Given the description of an element on the screen output the (x, y) to click on. 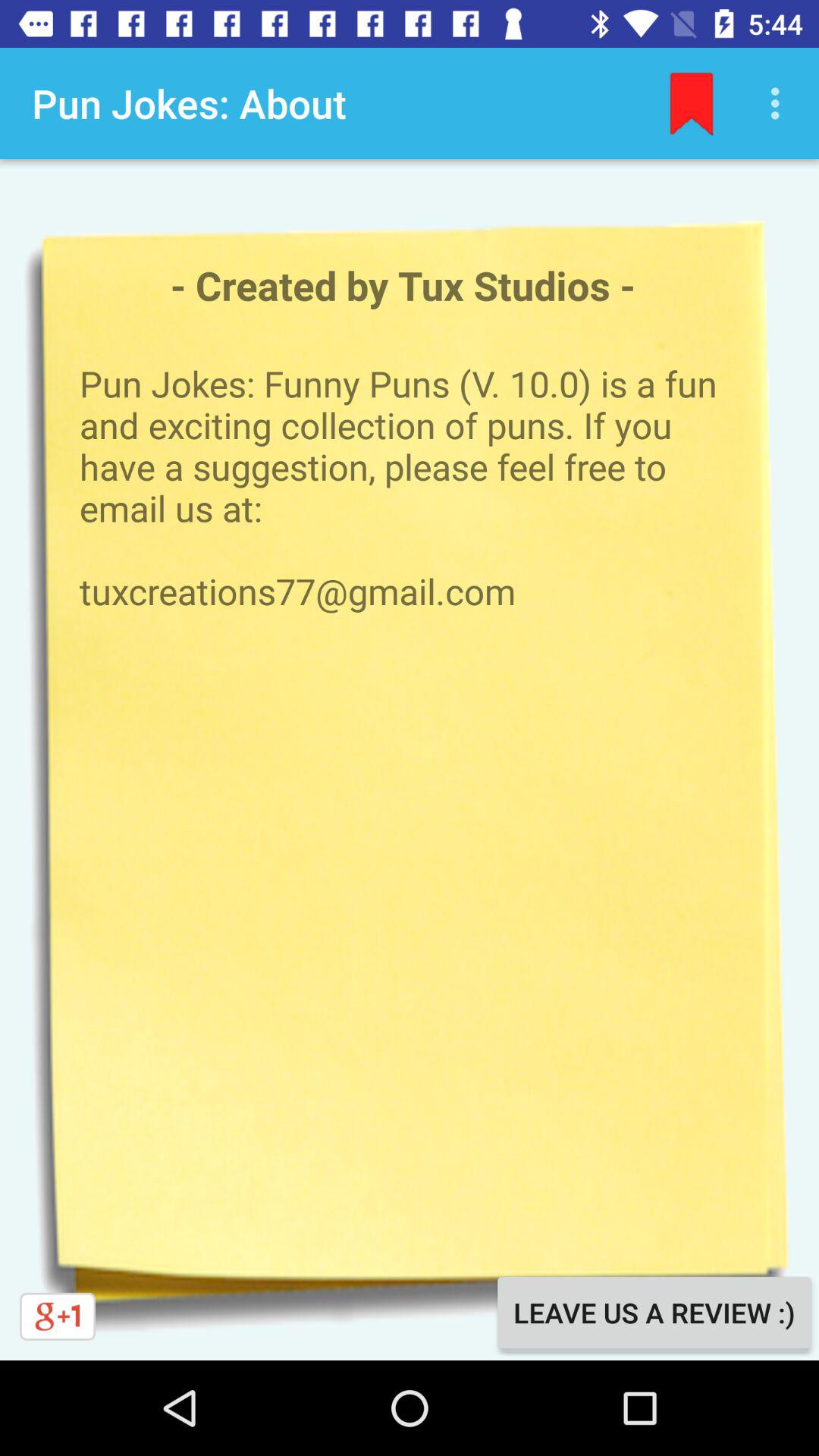
press item below the pun jokes funny (654, 1312)
